Given the description of an element on the screen output the (x, y) to click on. 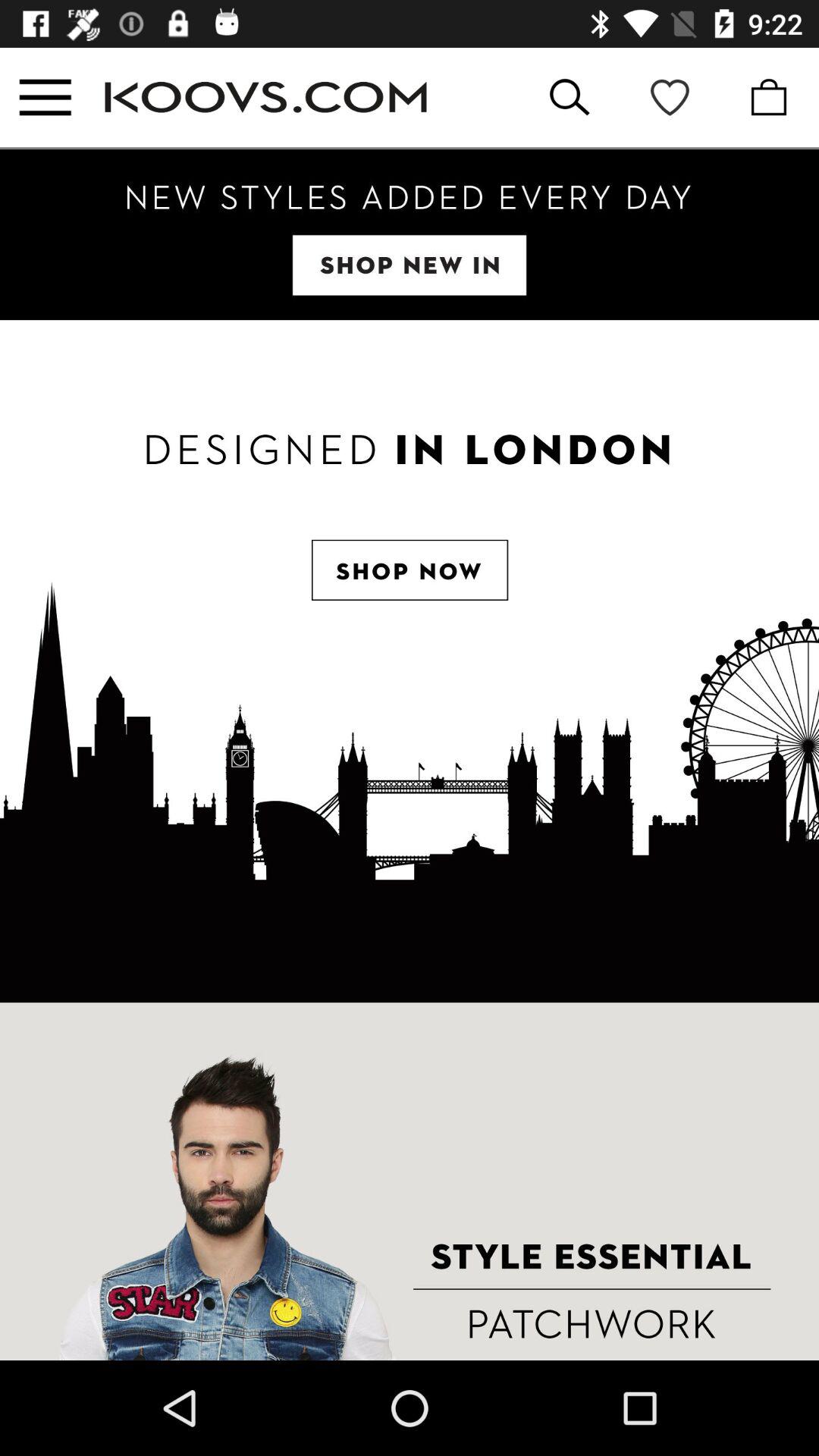
drop down menu (44, 97)
